Given the description of an element on the screen output the (x, y) to click on. 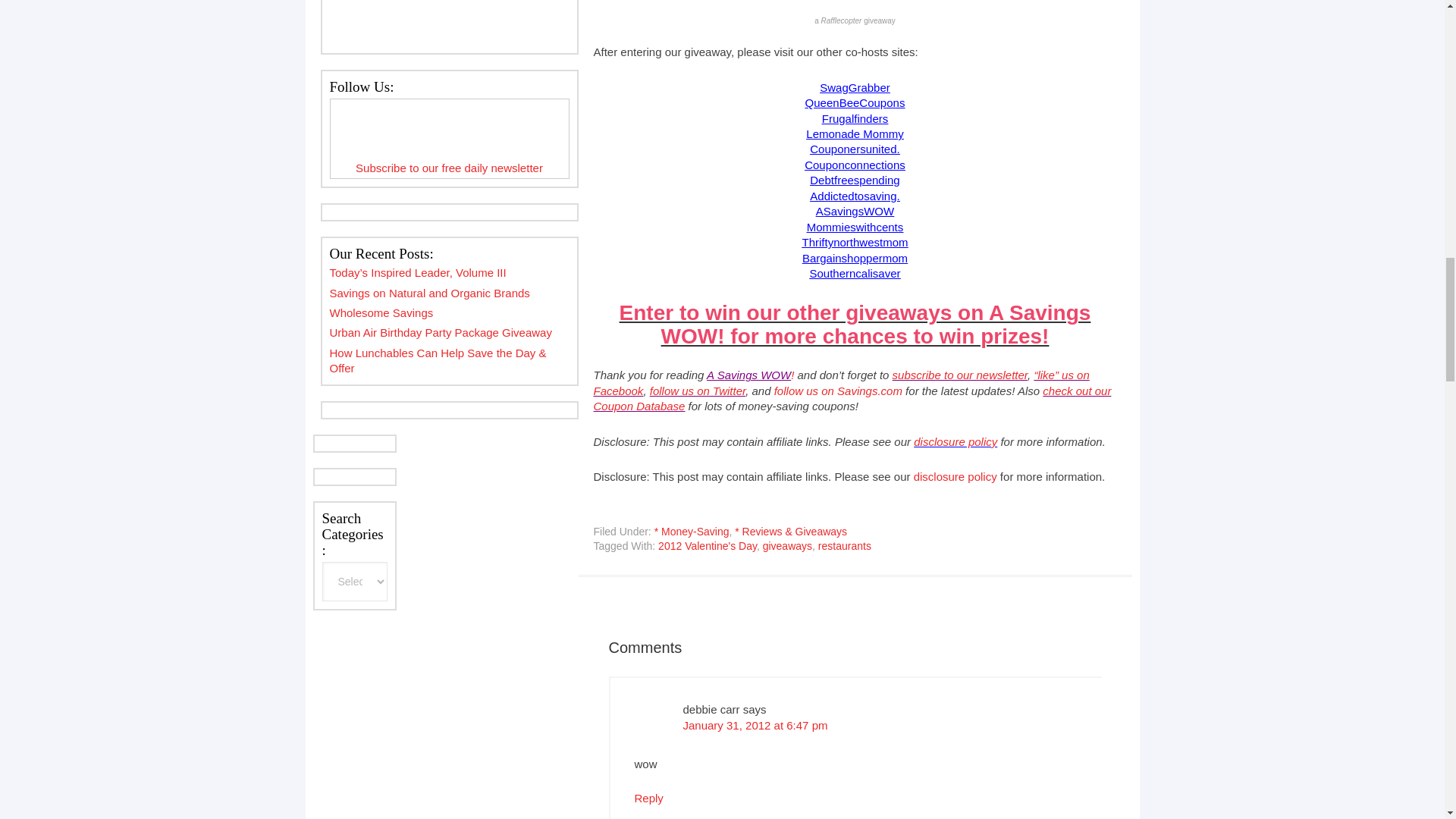
A Savings WOW! Twitter Page (697, 390)
A Savings WOW! Facebook Page (840, 382)
Disclosure Policy (955, 440)
Coupon Database (851, 398)
A Savings WOW! (749, 374)
A Savings WOW! Savings.com Profile (838, 390)
Current Giveaways (855, 324)
A Savings WOW! Newsletter Subscription (959, 374)
